Given the description of an element on the screen output the (x, y) to click on. 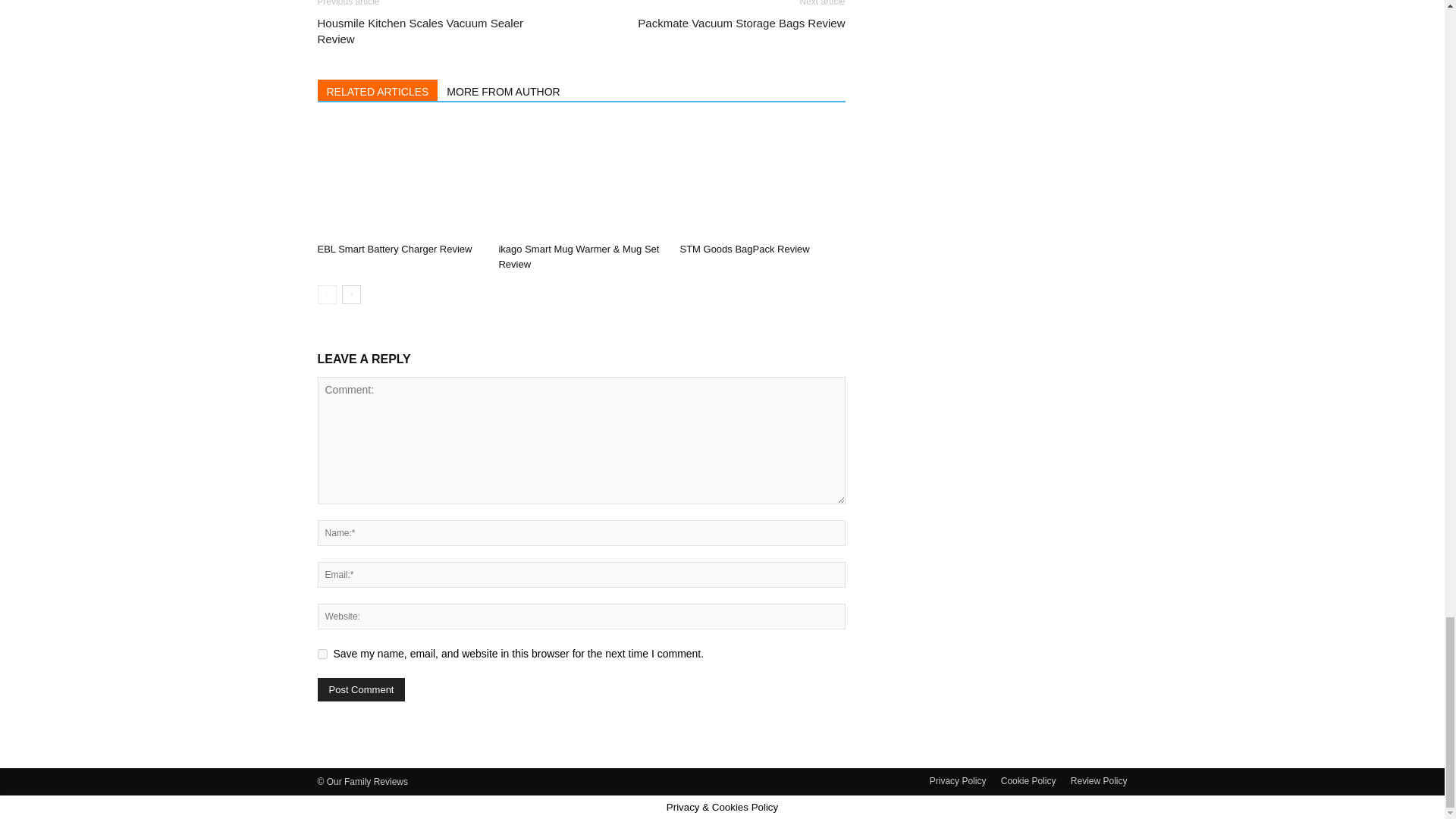
Post Comment (360, 689)
yes (321, 654)
